Given the description of an element on the screen output the (x, y) to click on. 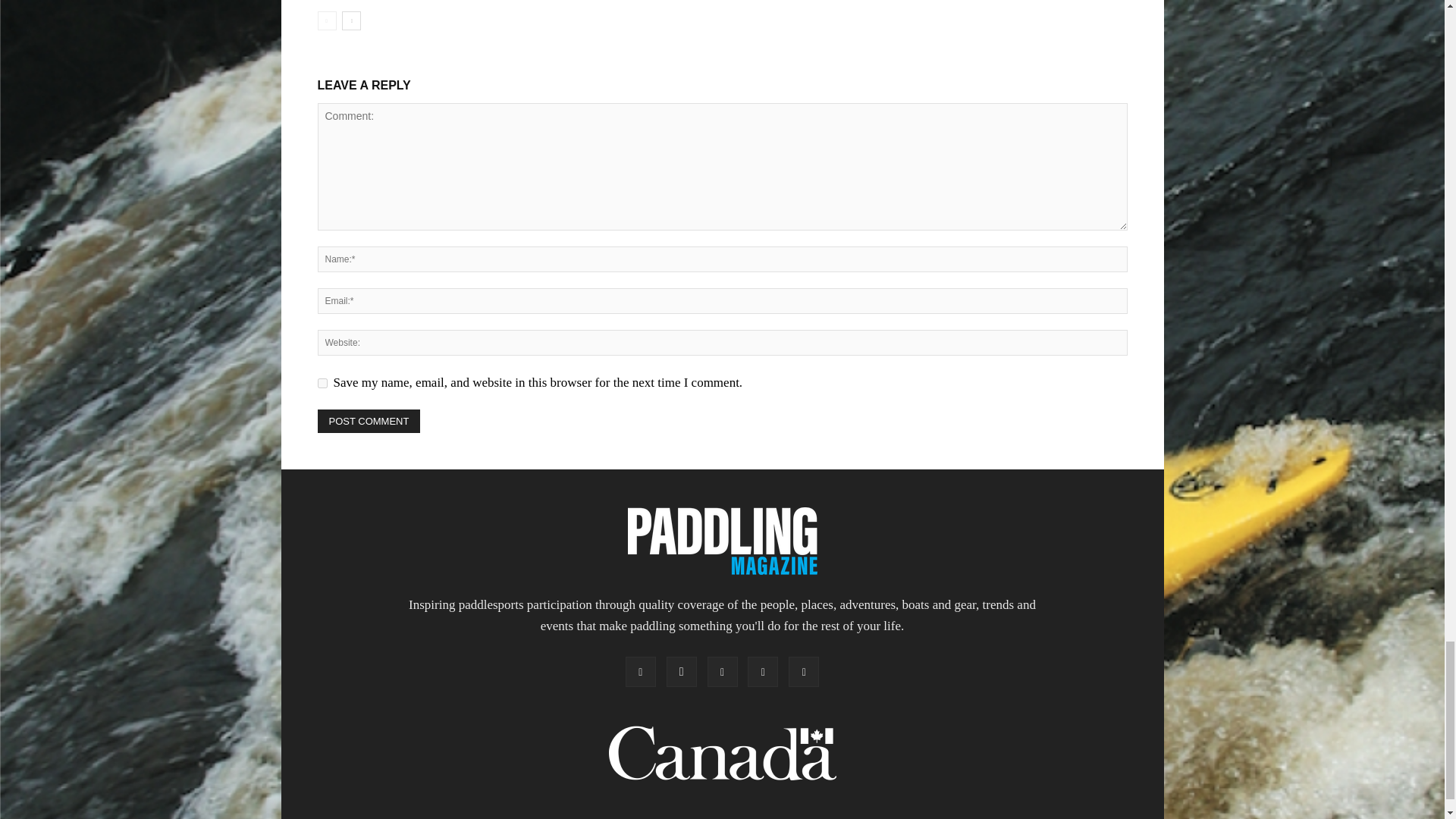
yes (321, 383)
Post Comment (368, 421)
